Given the description of an element on the screen output the (x, y) to click on. 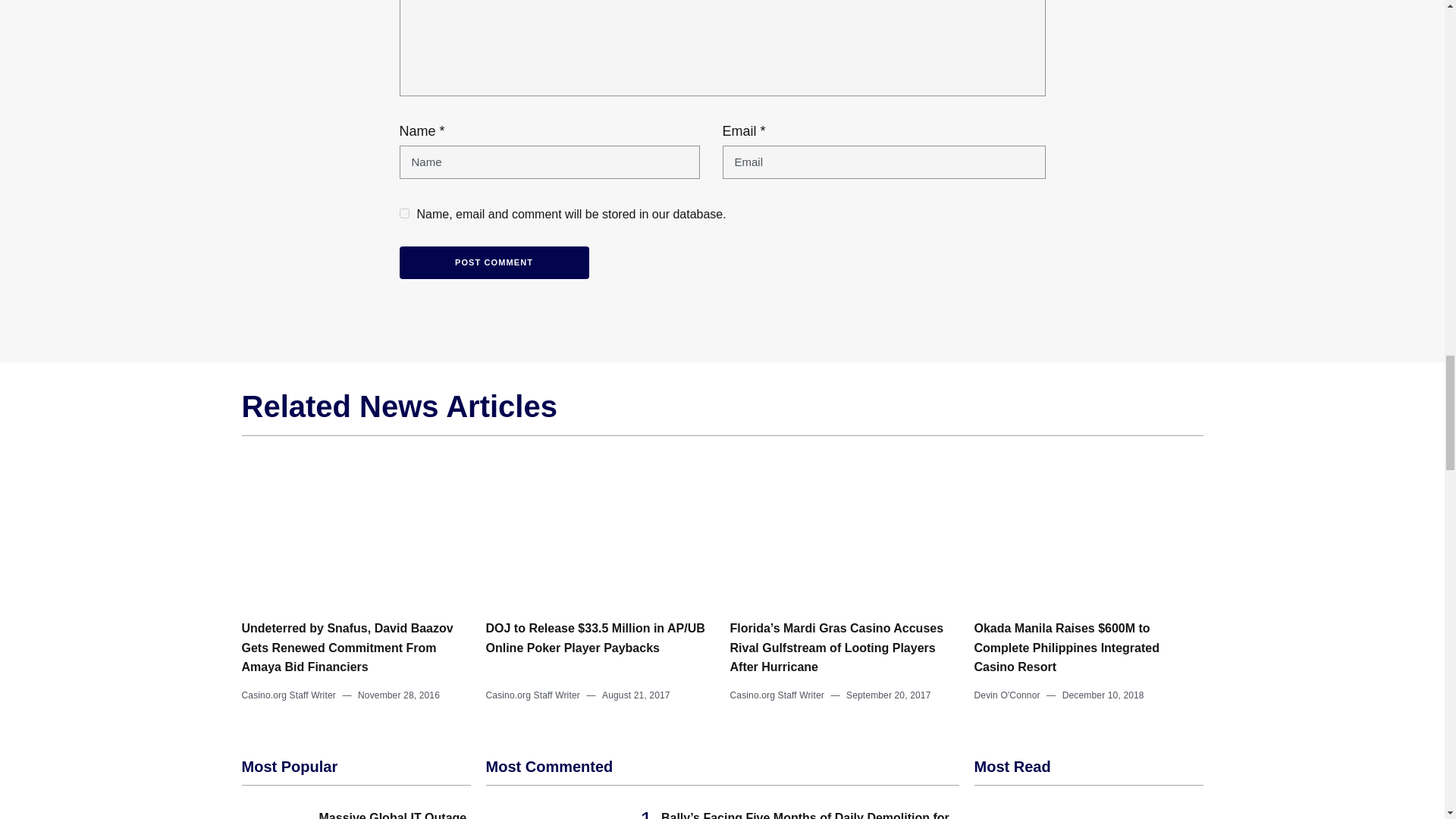
yes (403, 213)
Post Comment (493, 262)
